Given the description of an element on the screen output the (x, y) to click on. 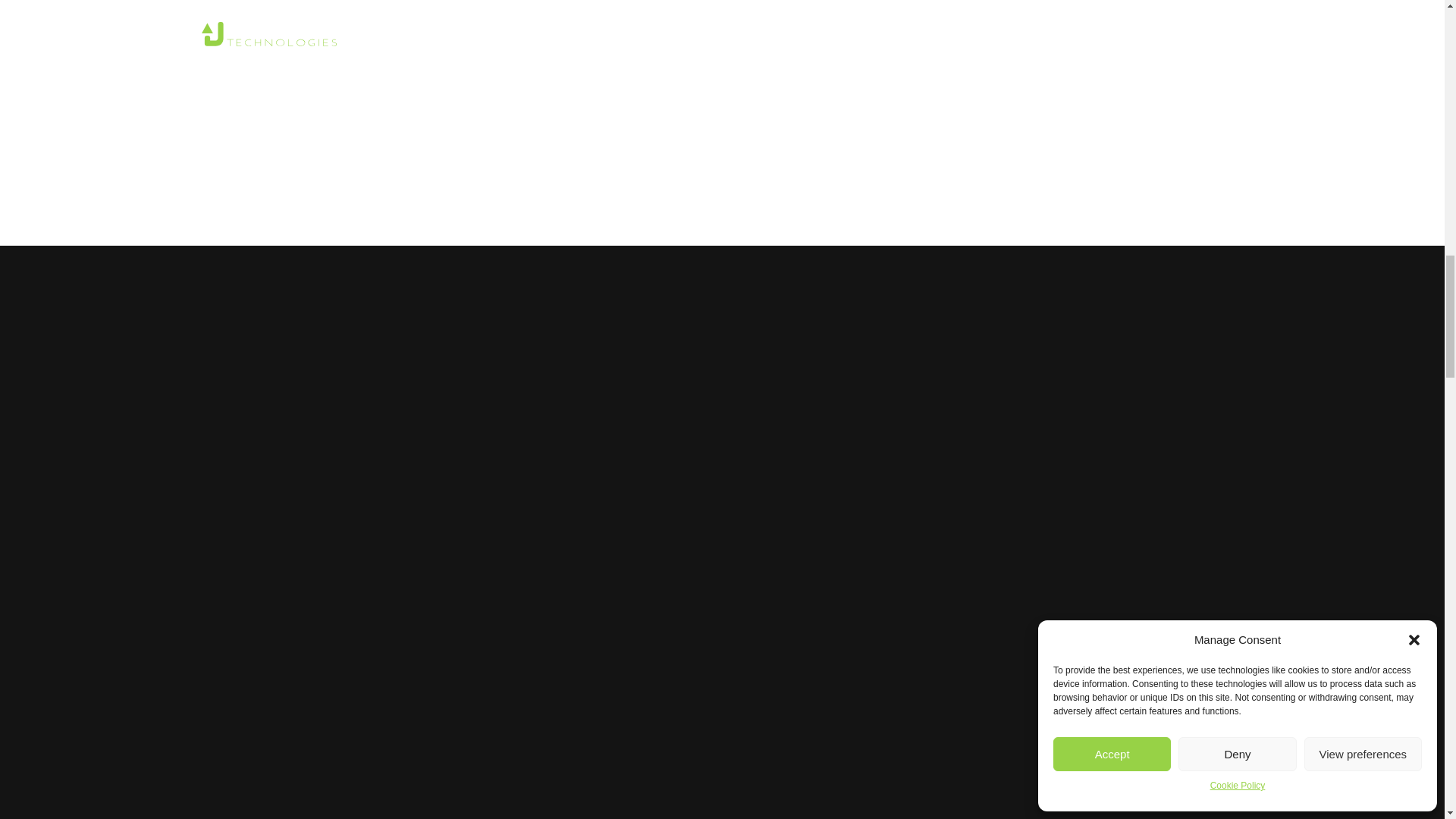
Urban search and rescue (319, 717)
Road Rescue (571, 717)
Breaching Tools (1127, 717)
Fire (759, 717)
